Given the description of an element on the screen output the (x, y) to click on. 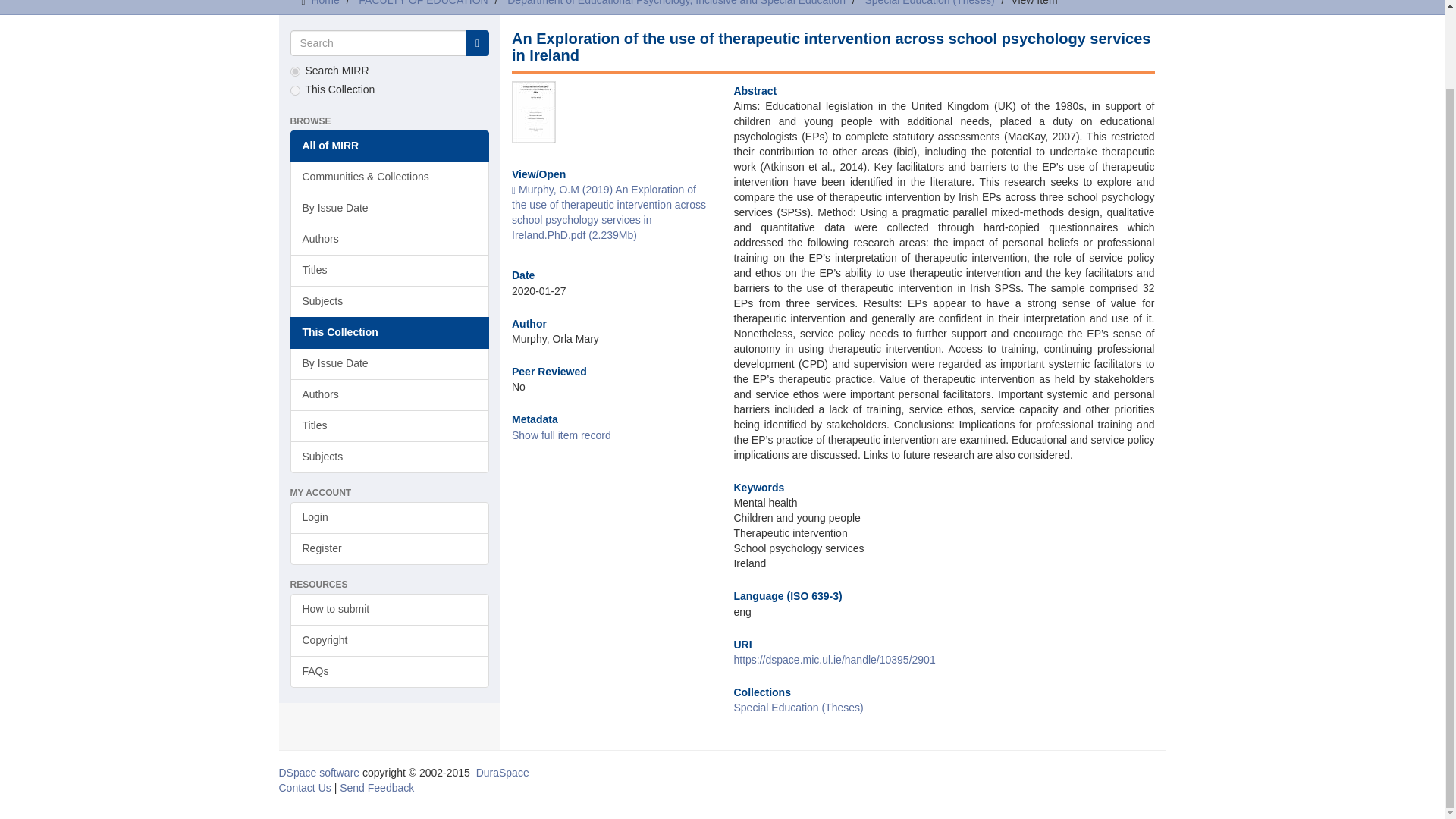
FACULTY OF EDUCATION (422, 2)
Home (325, 2)
Login (389, 517)
Show full item record (561, 435)
Subjects (389, 301)
Titles (389, 426)
All of MIRR (389, 146)
FAQs (389, 671)
By Issue Date (389, 364)
How to submit (389, 609)
